Given the description of an element on the screen output the (x, y) to click on. 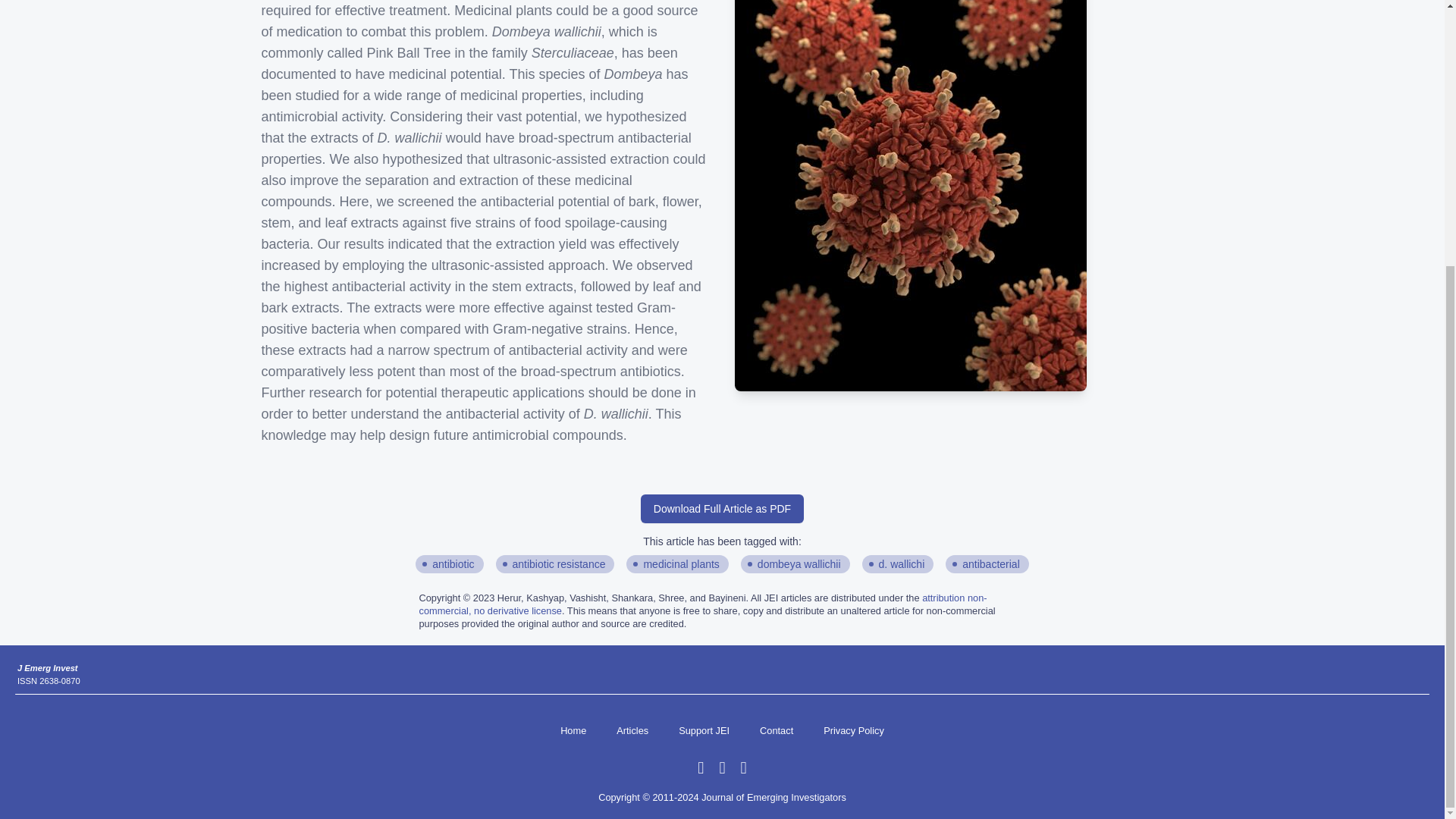
attribution non-commercial, no derivative license (703, 604)
antibiotic (453, 563)
Home (573, 730)
dombeya wallichii (799, 563)
medicinal plants (681, 563)
antibacterial (991, 563)
antibiotic resistance (558, 563)
Download Full Article as PDF (721, 508)
d. wallichi (901, 563)
Articles (631, 730)
